Given the description of an element on the screen output the (x, y) to click on. 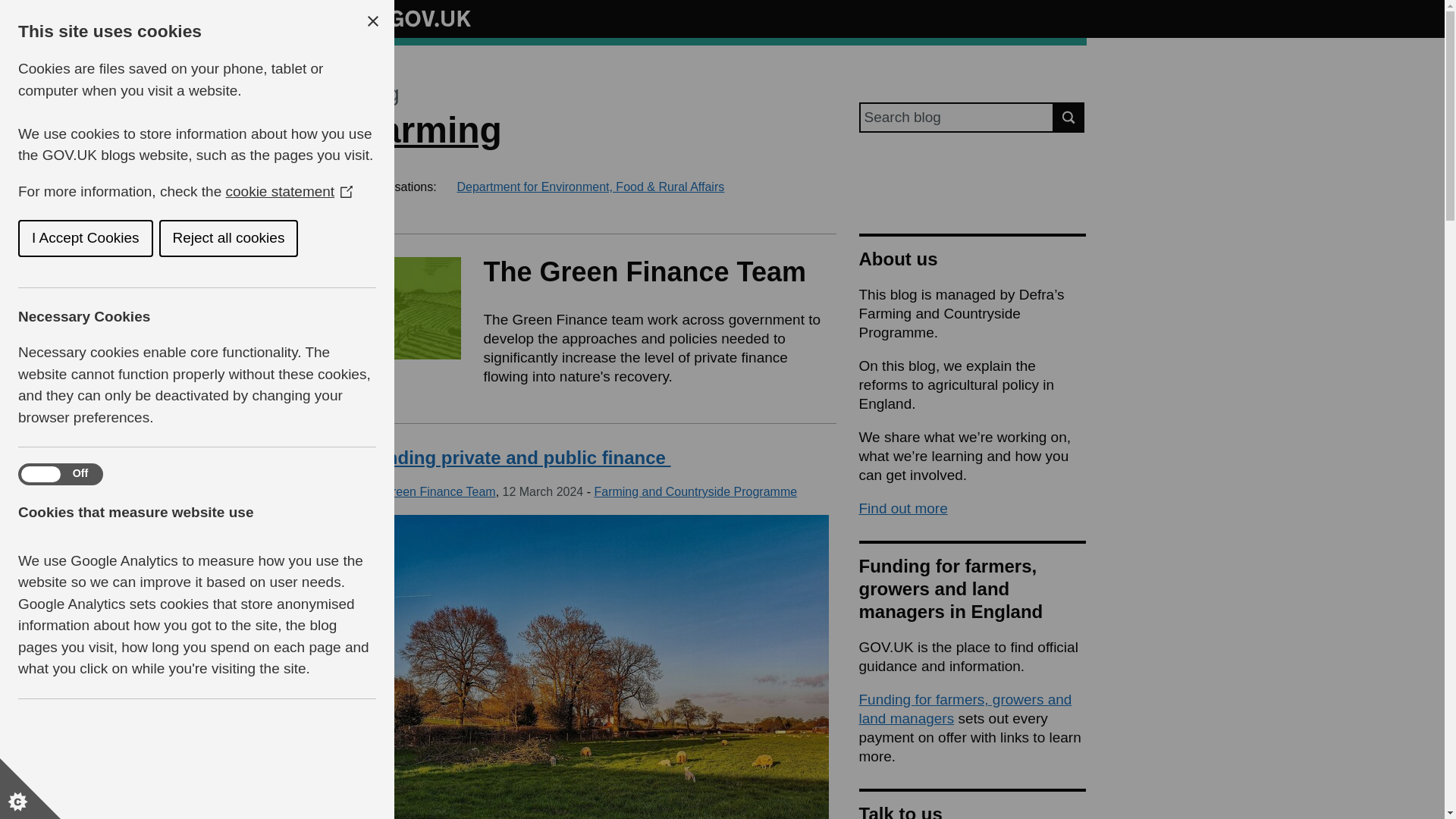
GOV.UK (414, 15)
The Green Finance Team (426, 491)
Funding for farmers, growers and land managers (965, 708)
Farming and Countryside Programme (695, 491)
Go to the GOV.UK homepage (414, 18)
Farming (429, 129)
GOV.UK (414, 18)
Search (1069, 117)
Blog (378, 93)
Find out more (903, 508)
